Given the description of an element on the screen output the (x, y) to click on. 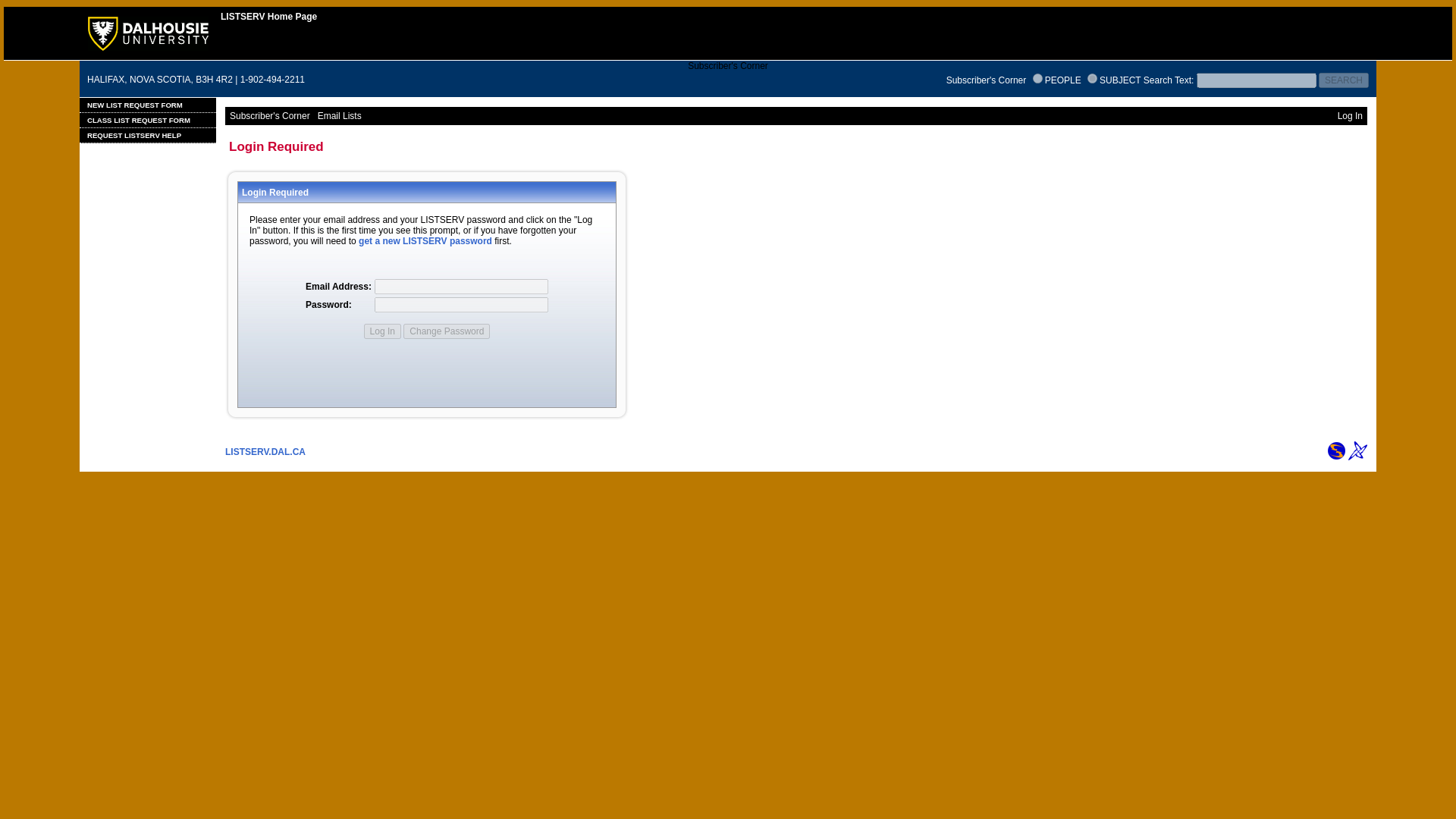
on (1037, 78)
SEARCH (1343, 79)
CataList Email List Search (1335, 450)
LISTSERV.DAL.CA (265, 451)
get a new LISTSERV password (425, 240)
SEARCH (1343, 79)
NEW LIST REQUEST FORM (147, 105)
Change Password (446, 331)
Powered by the LISTSERV Email List Manager (1357, 450)
Change Password (446, 331)
